Given the description of an element on the screen output the (x, y) to click on. 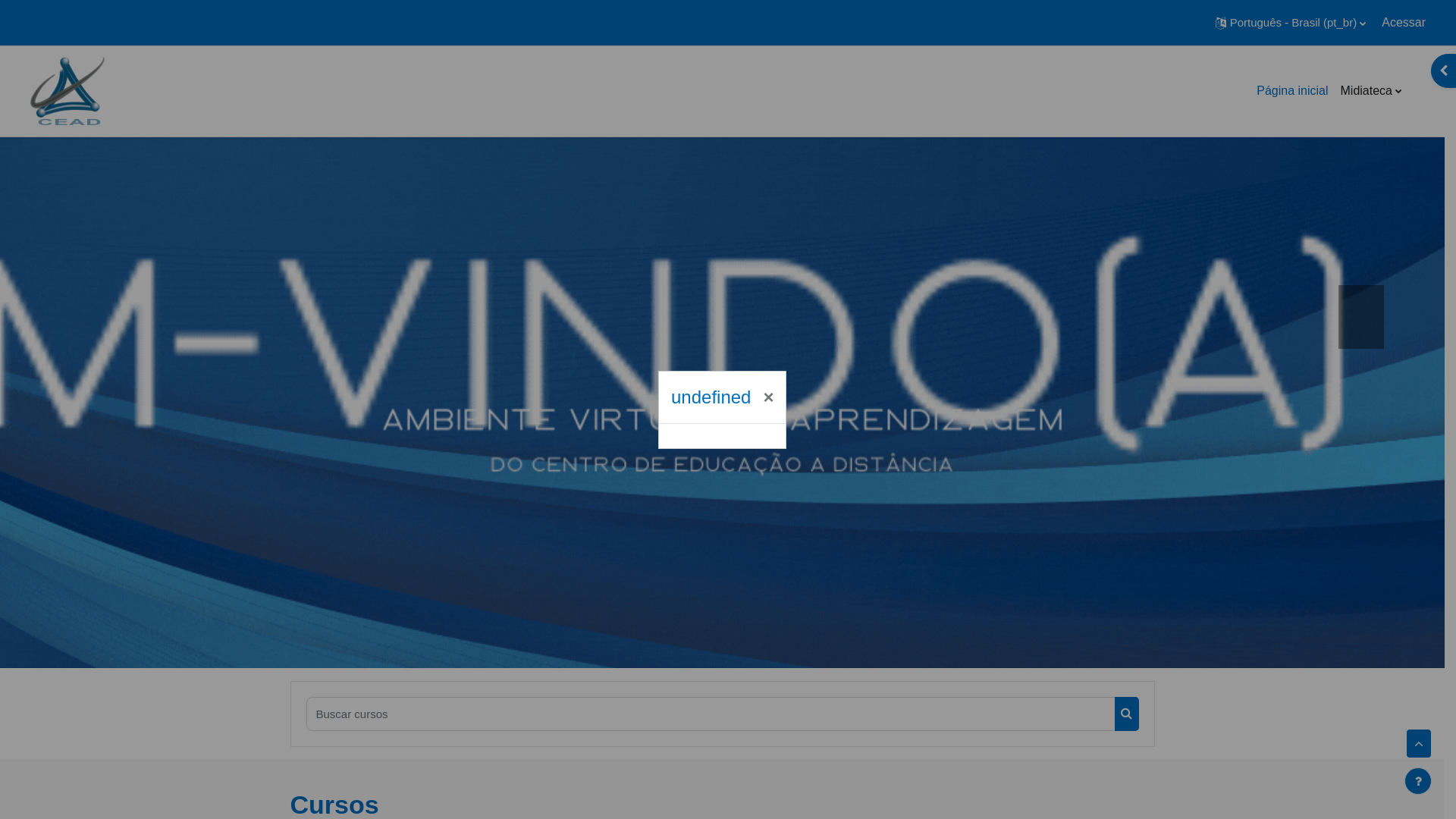
Fechar Element type: hover (767, 397)
Buscar cursos Element type: text (1126, 713)
Midiateca Element type: text (1371, 90)
Acessar Element type: text (1403, 22)
